Given the description of an element on the screen output the (x, y) to click on. 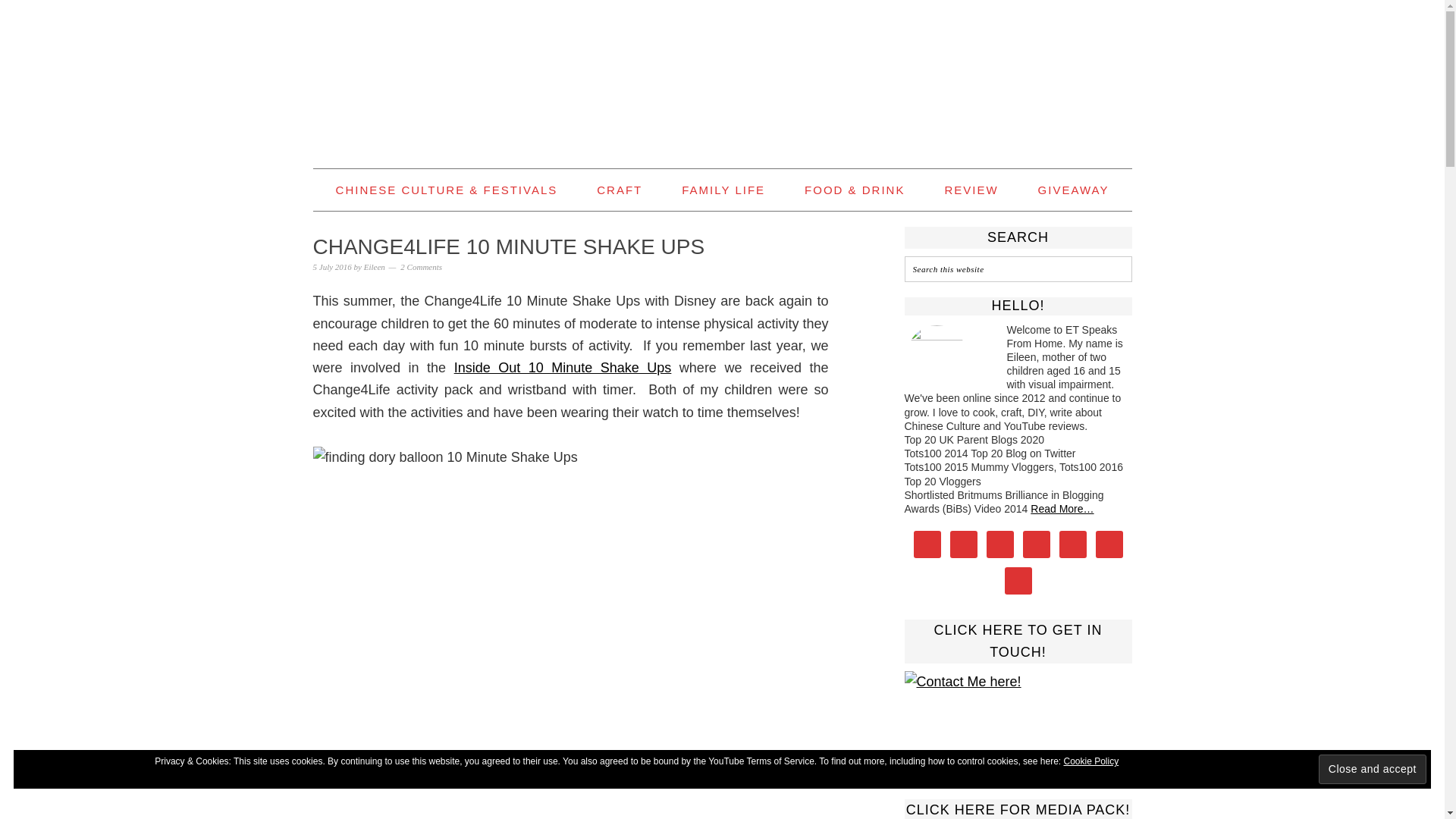
CRAFT (619, 189)
Click here to get in touch! (1017, 718)
FAMILY LIFE (723, 189)
Close and accept (1372, 768)
REVIEW (970, 189)
ET SPEAKS FROM HOME (722, 77)
